Given the description of an element on the screen output the (x, y) to click on. 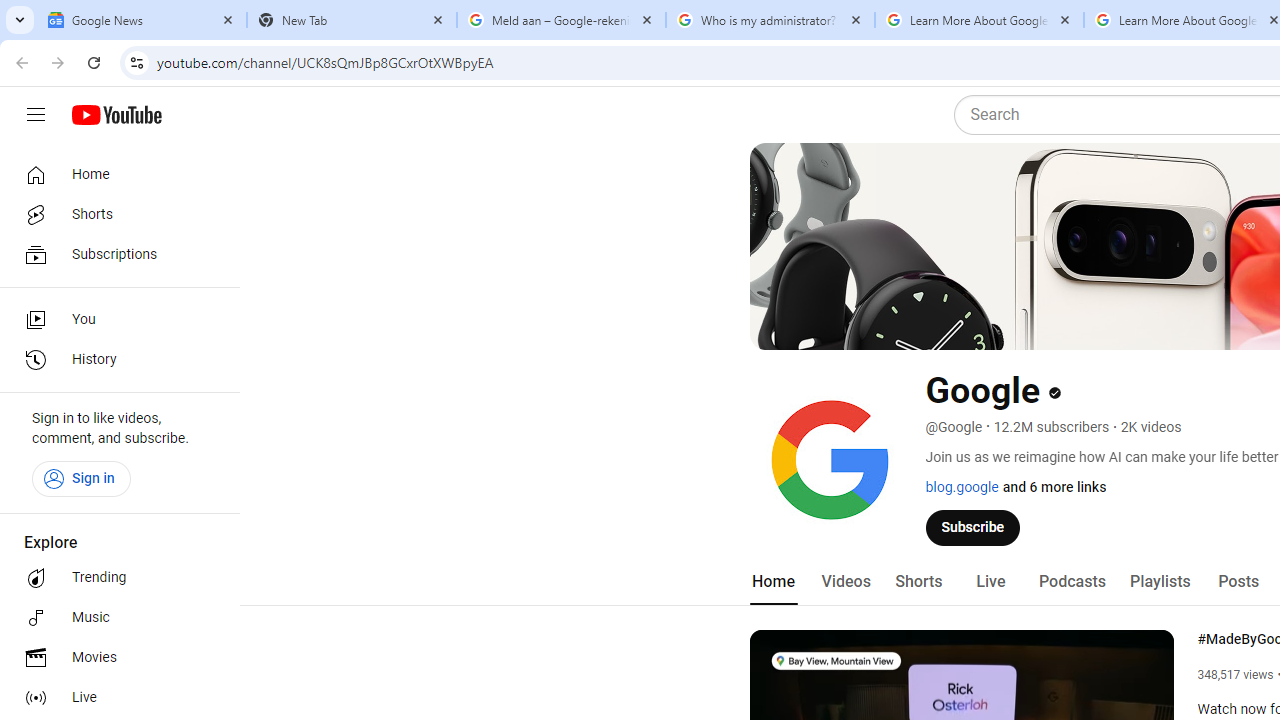
Music (113, 617)
Podcasts (1072, 581)
Live (113, 697)
Google News (142, 20)
blog.google (961, 487)
Movies (113, 657)
Subscriptions (113, 254)
Videos (845, 581)
